Given the description of an element on the screen output the (x, y) to click on. 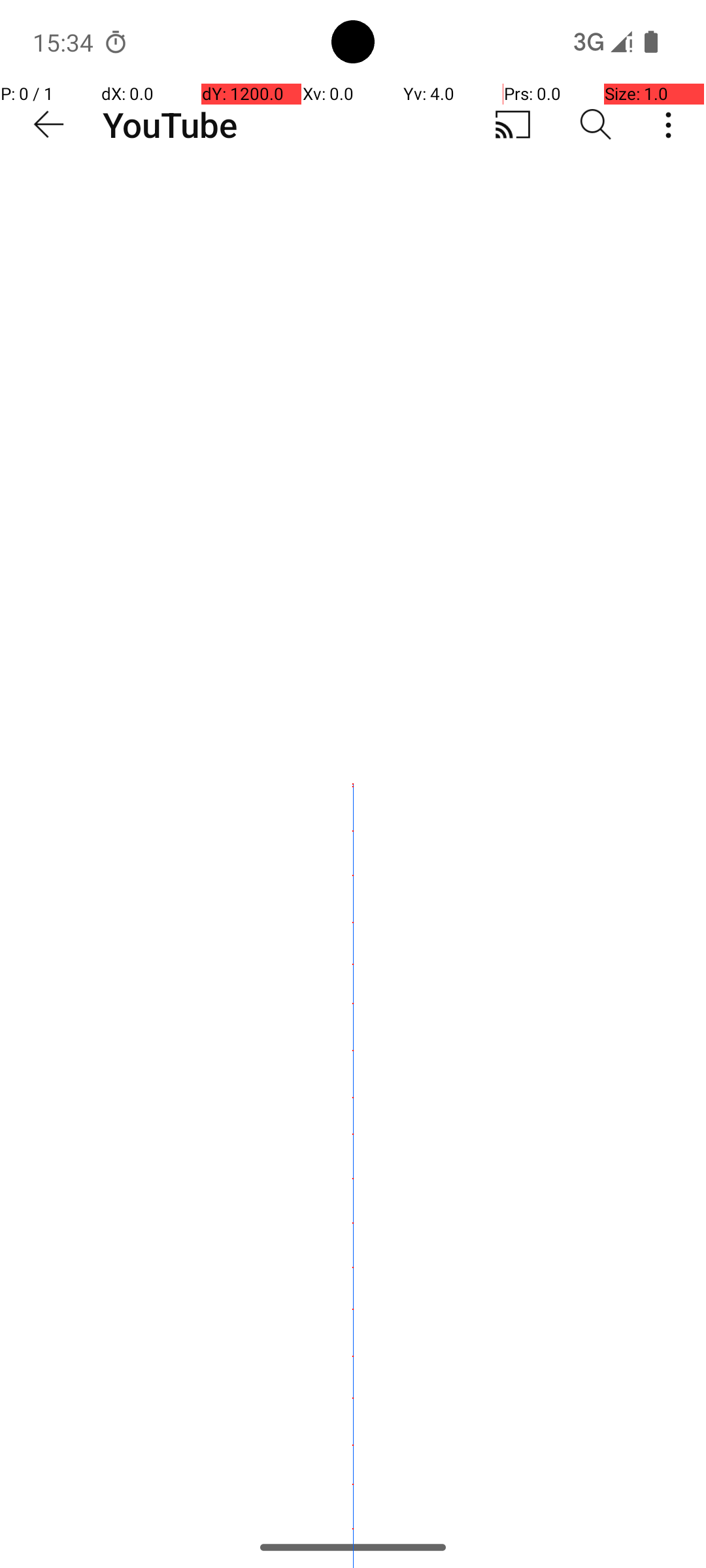
Cast. Disconnected Element type: android.view.View (512, 124)
